Given the description of an element on the screen output the (x, y) to click on. 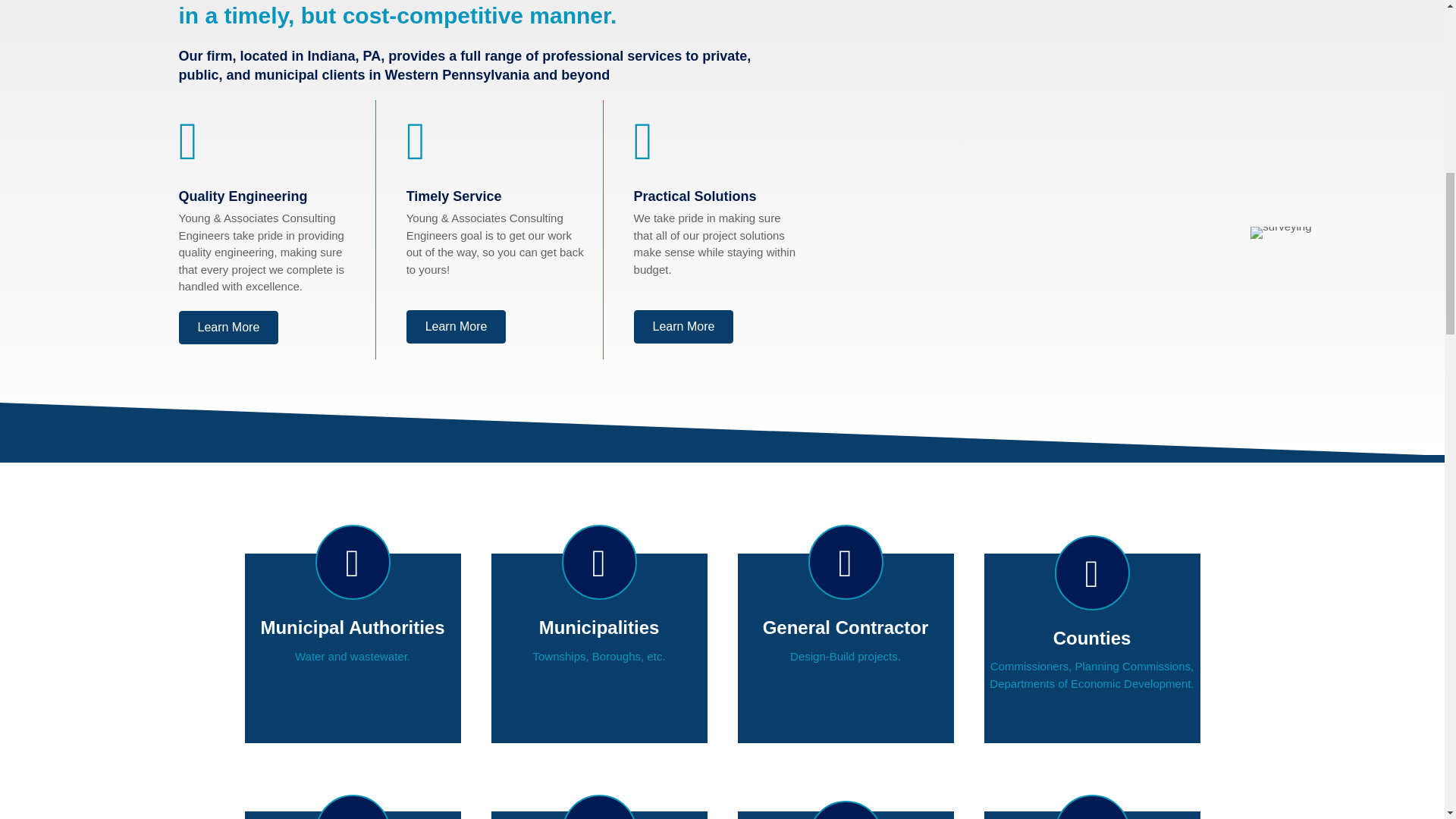
Learn More (683, 326)
Learn More (456, 326)
Learn More (229, 327)
surveying (1280, 232)
